Given the description of an element on the screen output the (x, y) to click on. 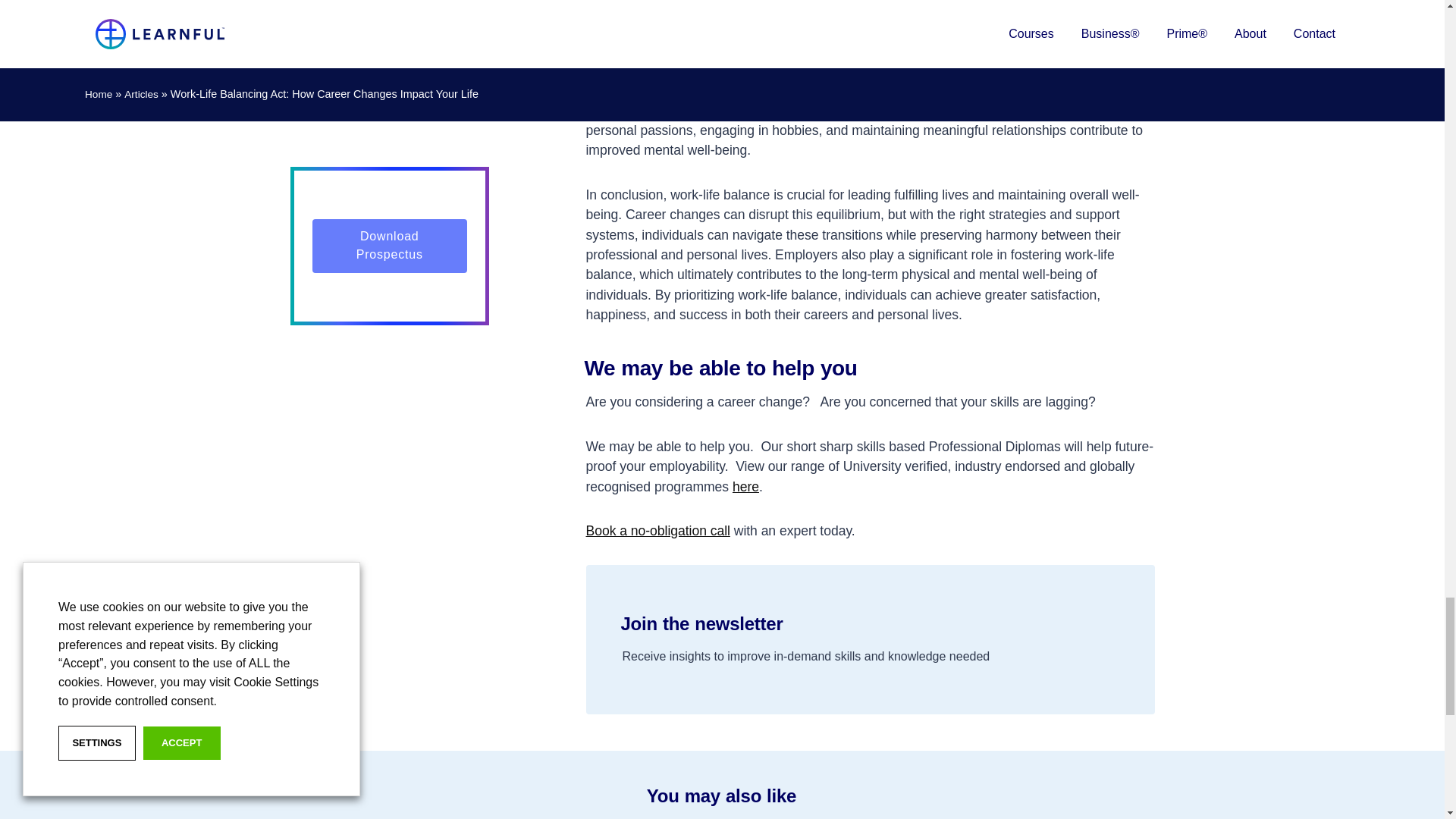
here (745, 486)
Book a no-obligation call (657, 530)
